Given the description of an element on the screen output the (x, y) to click on. 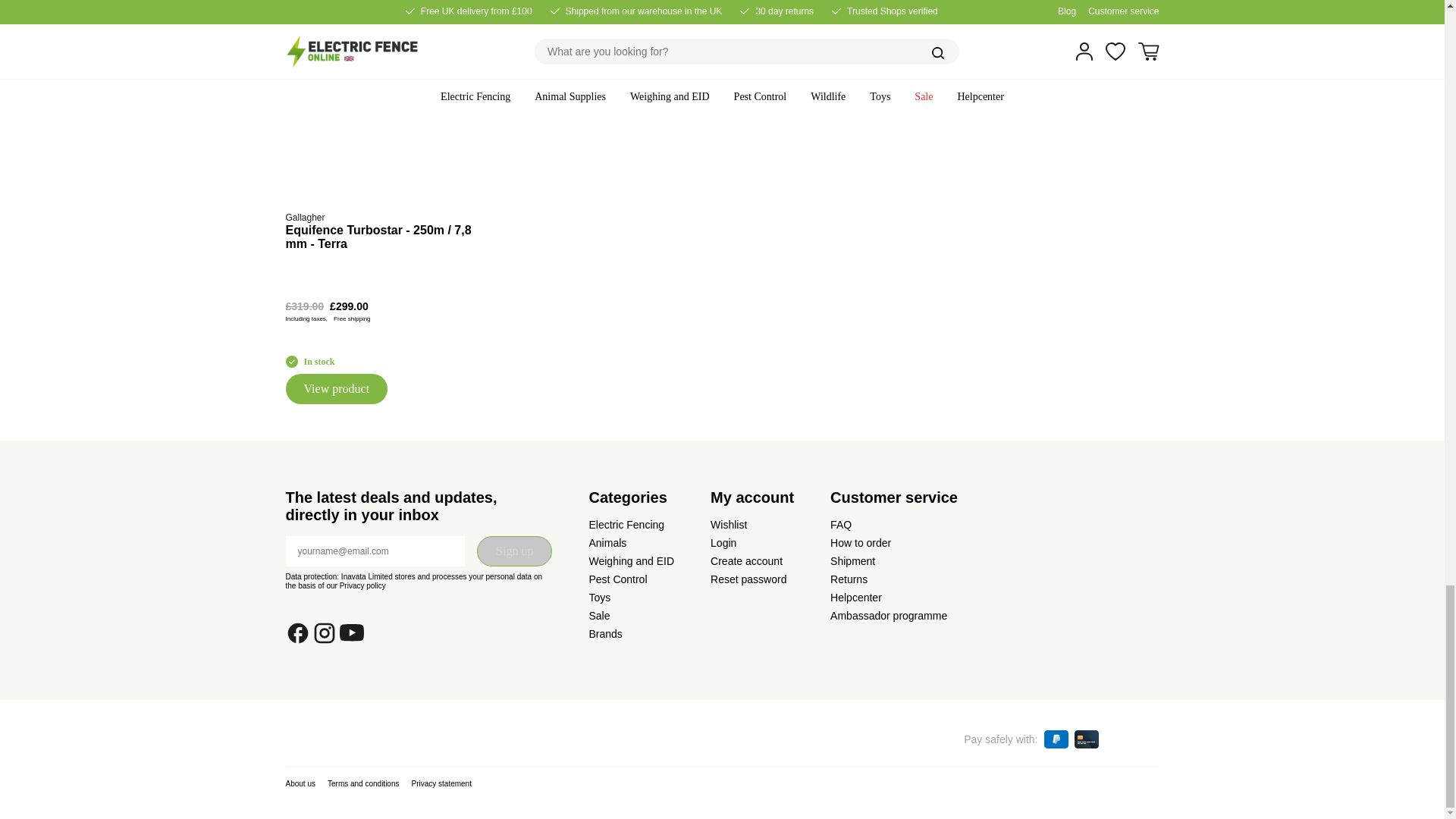
Weighing and EID (631, 561)
Electric Fencing (625, 524)
Pest Control (617, 579)
Animals (607, 542)
